Given the description of an element on the screen output the (x, y) to click on. 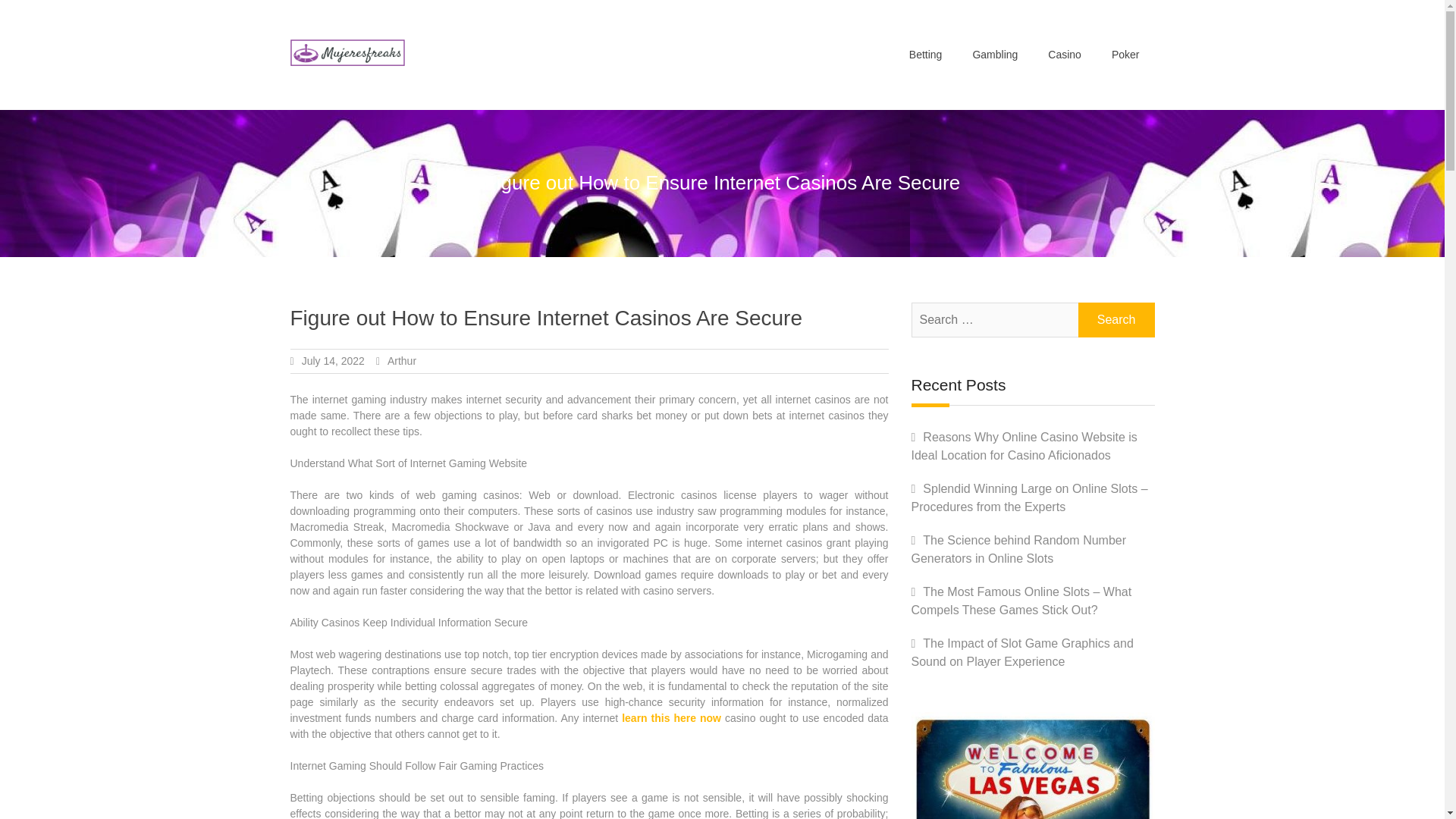
learn this here now (670, 717)
Search (1116, 319)
Betting (925, 55)
Arthur (401, 360)
Search (1116, 319)
Search (1116, 319)
Gambling (994, 55)
Poker (1125, 55)
Casino (1064, 55)
